Given the description of an element on the screen output the (x, y) to click on. 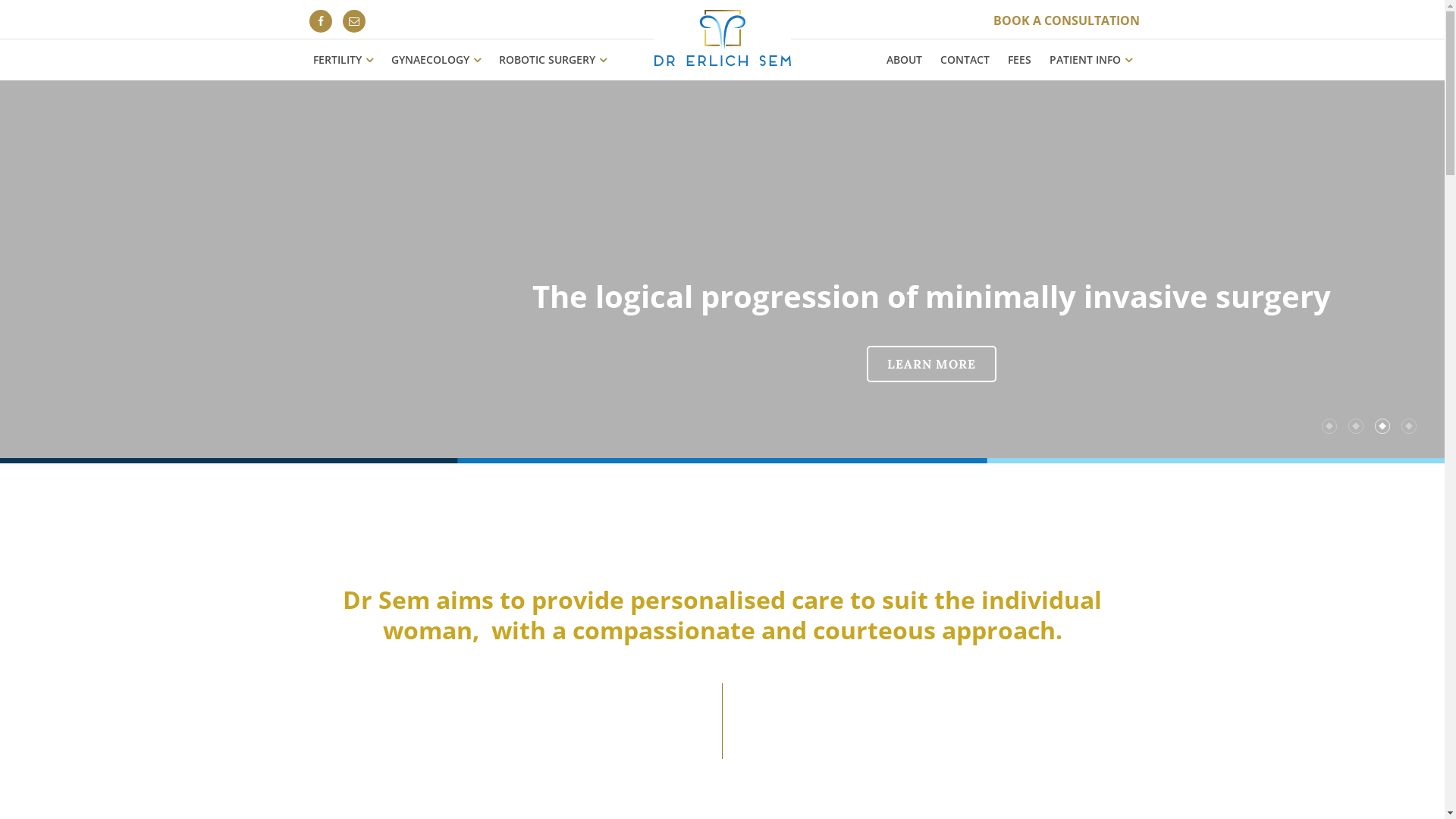
4 Element type: text (1408, 425)
CONTACT Element type: text (964, 59)
FEES Element type: text (1018, 59)
3 Element type: text (1381, 425)
FERTILITY Element type: text (341, 59)
LEARN MORE Element type: text (931, 363)
1 Element type: text (1328, 425)
PATIENT INFO Element type: text (1090, 59)
GYNAECOLOGY Element type: text (435, 59)
ROBOTIC SURGERY Element type: text (552, 59)
ABOUT Element type: text (903, 59)
2 Element type: text (1355, 425)
BOOK A CONSULTATION Element type: text (1066, 20)
